Given the description of an element on the screen output the (x, y) to click on. 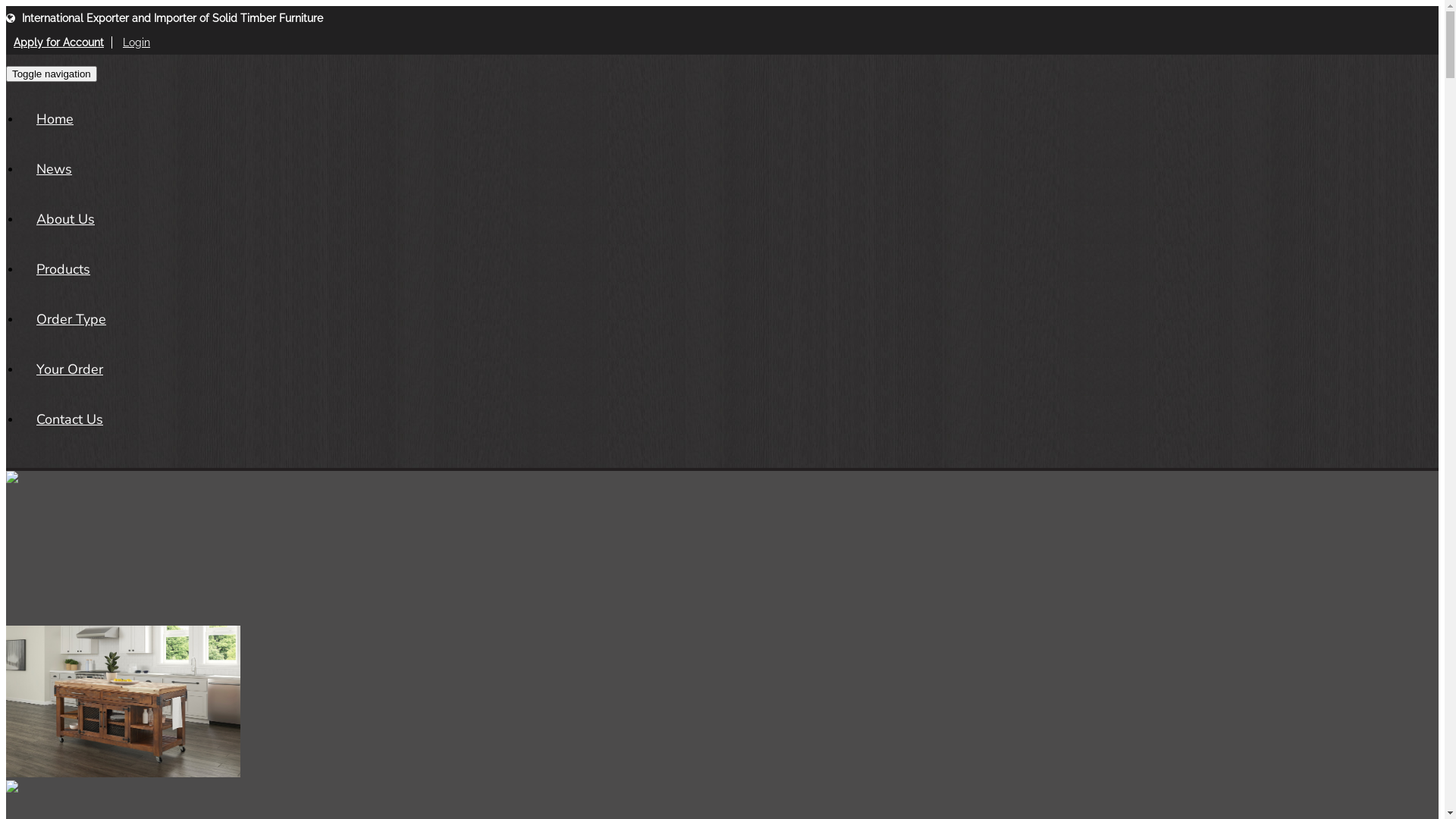
Toggle navigation Element type: text (51, 73)
Login Element type: text (136, 42)
Order Type Element type: text (71, 319)
Apply for Account Element type: text (58, 42)
News Element type: text (54, 169)
Products Element type: text (63, 269)
Your Order Element type: text (69, 369)
Home Element type: text (54, 118)
About Us Element type: text (65, 219)
Contact Us Element type: text (69, 419)
